Given the description of an element on the screen output the (x, y) to click on. 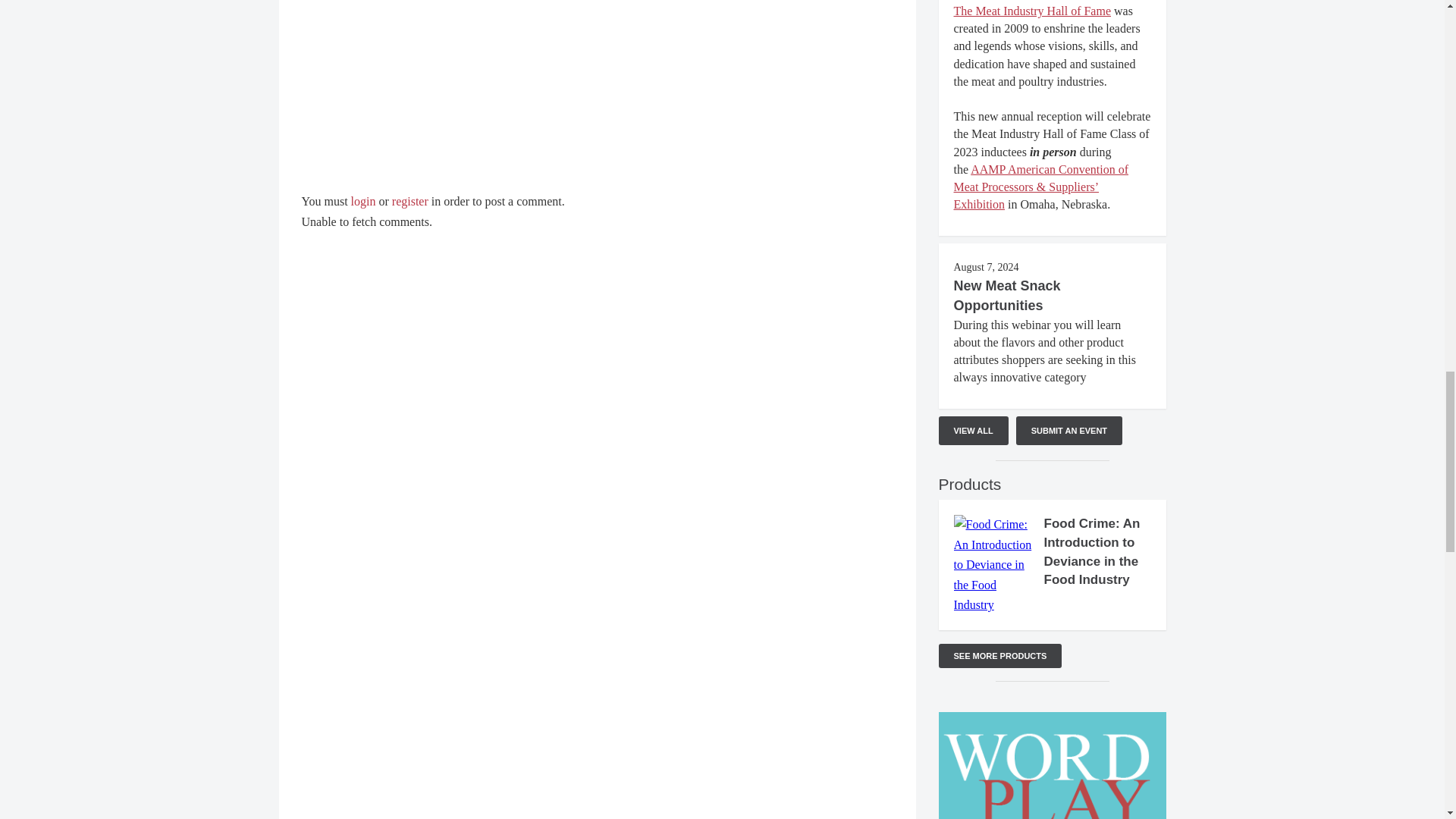
Interaction questions (597, 98)
New Meat Snack Opportunities (1007, 295)
